Given the description of an element on the screen output the (x, y) to click on. 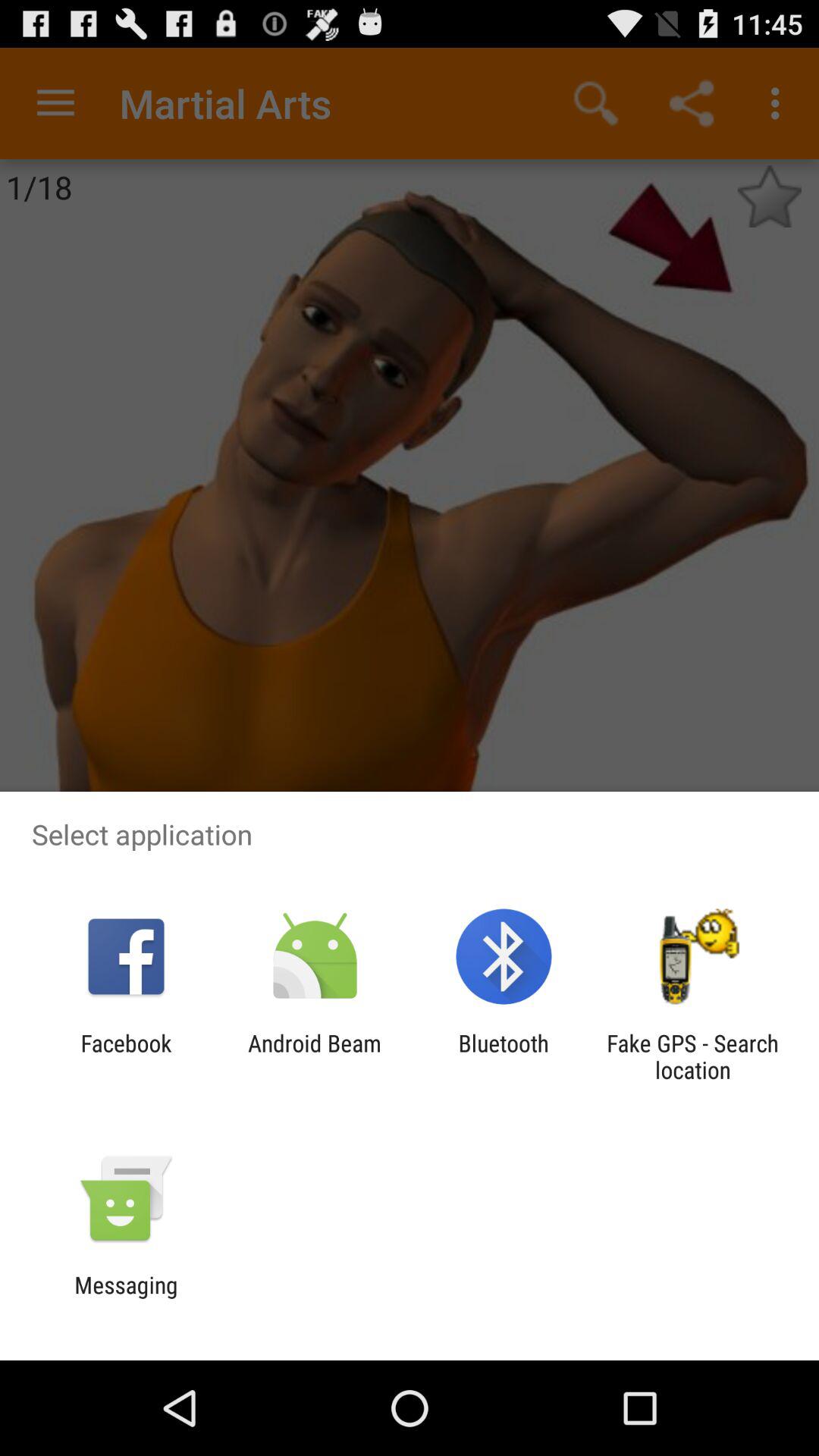
swipe until the facebook item (125, 1056)
